Given the description of an element on the screen output the (x, y) to click on. 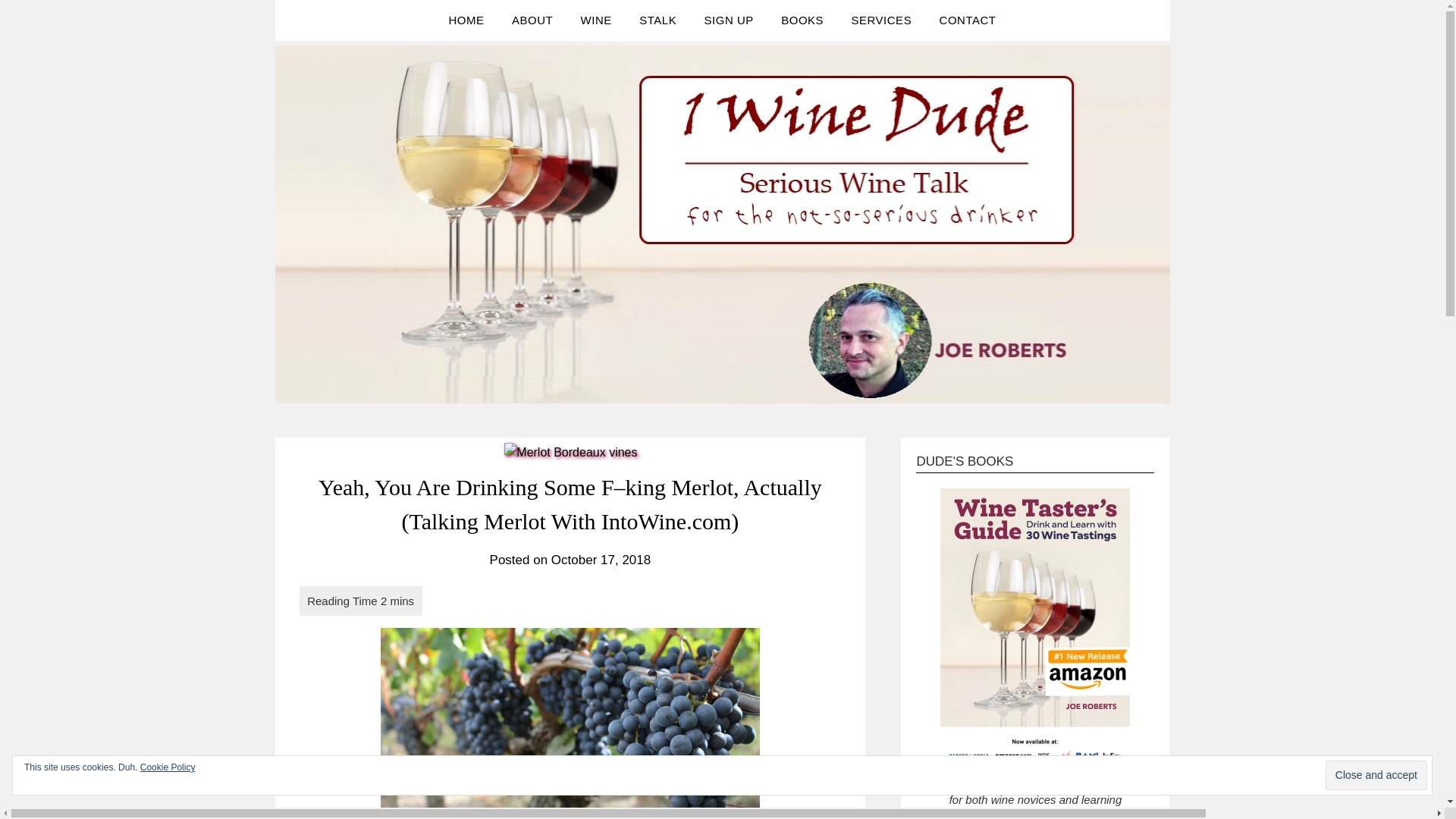
SERVICES (882, 20)
WINE (596, 20)
CONTACT (968, 20)
Close and accept (1375, 775)
ABOUT (531, 20)
SIGN UP (729, 20)
1 Wine Dude (379, 53)
HOME (466, 20)
October 17, 2018 (600, 559)
STALK (657, 20)
BOOKS (801, 20)
